Given the description of an element on the screen output the (x, y) to click on. 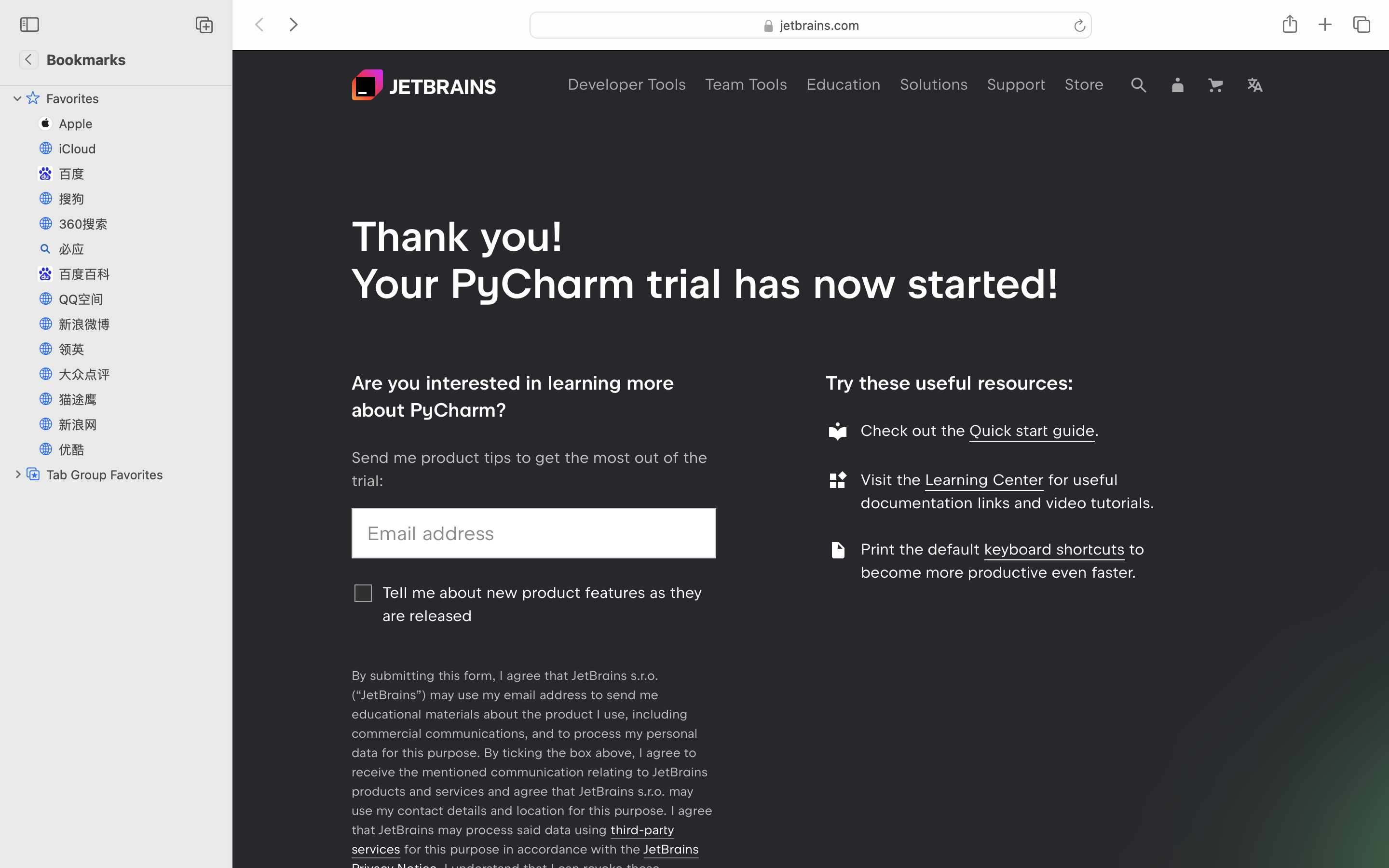
By submitting this form, I agree that JetBrains s.r.o. (“JetBrains”) may use my email address to send me educational materials about the product I use, including commercial communications, and to process my personal data for this purpose. By ticking the box above, I agree to receive the mentioned communication relating to JetBrains products and services and agree that JetBrains s.r.o. may use my contact details and location for this purpose. I agree that JetBrains may process said data using Element type: AXStaticText (531, 752)
0 Tell me about new product features as they are released Element type: AXCheckBox (533, 604)
必应 Element type: AXTextField (139, 248)
360搜索 Element type: AXTextField (139, 223)
https://www.jetbrains.com/trial-start/?build=2024200&product=PC Element type: AXTextField (806, 30)
